Given the description of an element on the screen output the (x, y) to click on. 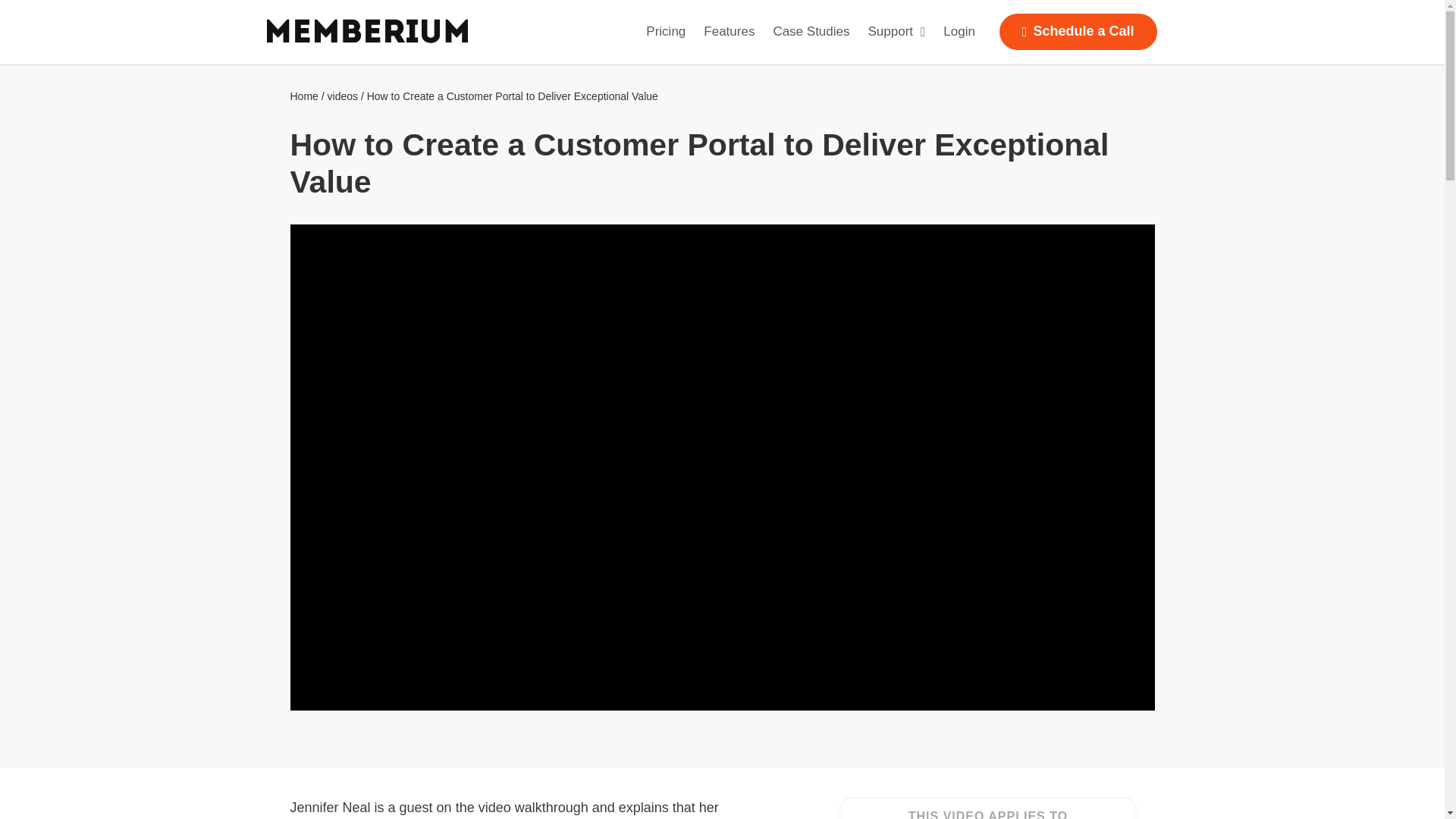
Home (303, 96)
Pricing (665, 31)
Support (896, 31)
Case Studies (810, 31)
Login (959, 31)
Schedule a Call (1077, 31)
Features (728, 31)
videos (342, 96)
